Given the description of an element on the screen output the (x, y) to click on. 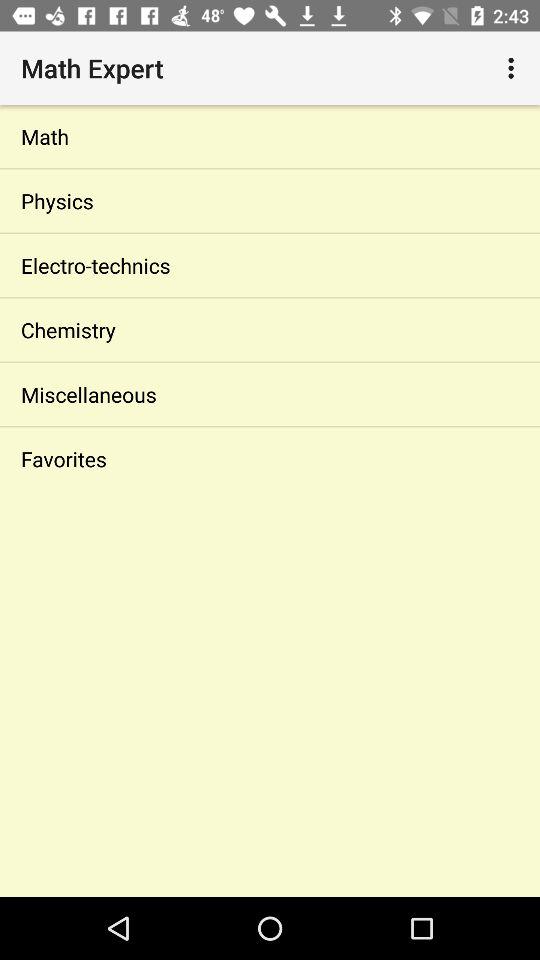
flip until favorites icon (270, 458)
